Given the description of an element on the screen output the (x, y) to click on. 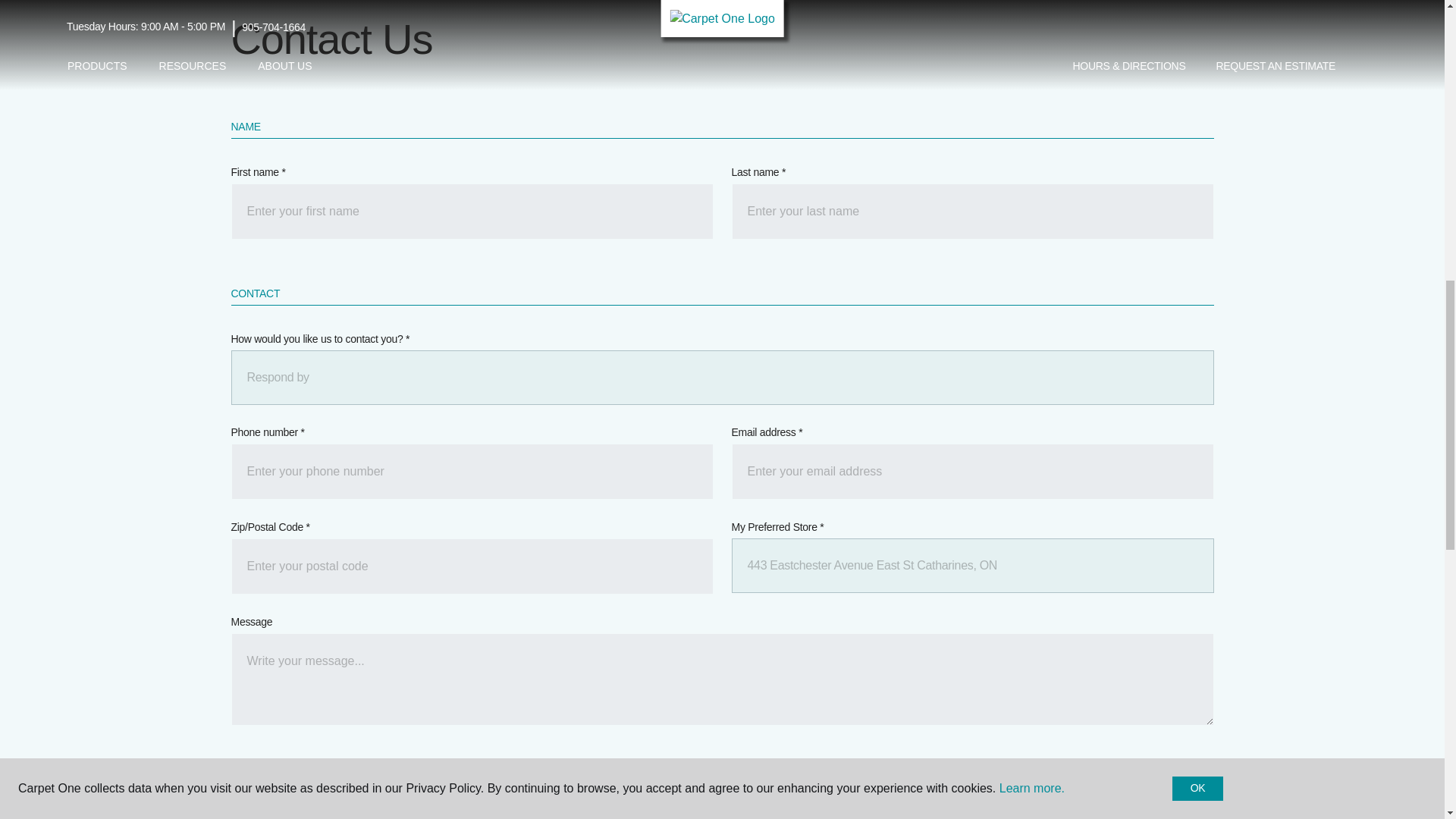
MyMessage (721, 679)
CleanHomePhone (471, 471)
PostalCode (471, 566)
EmailAddress (971, 471)
LastName (971, 211)
FirstName (471, 211)
